Given the description of an element on the screen output the (x, y) to click on. 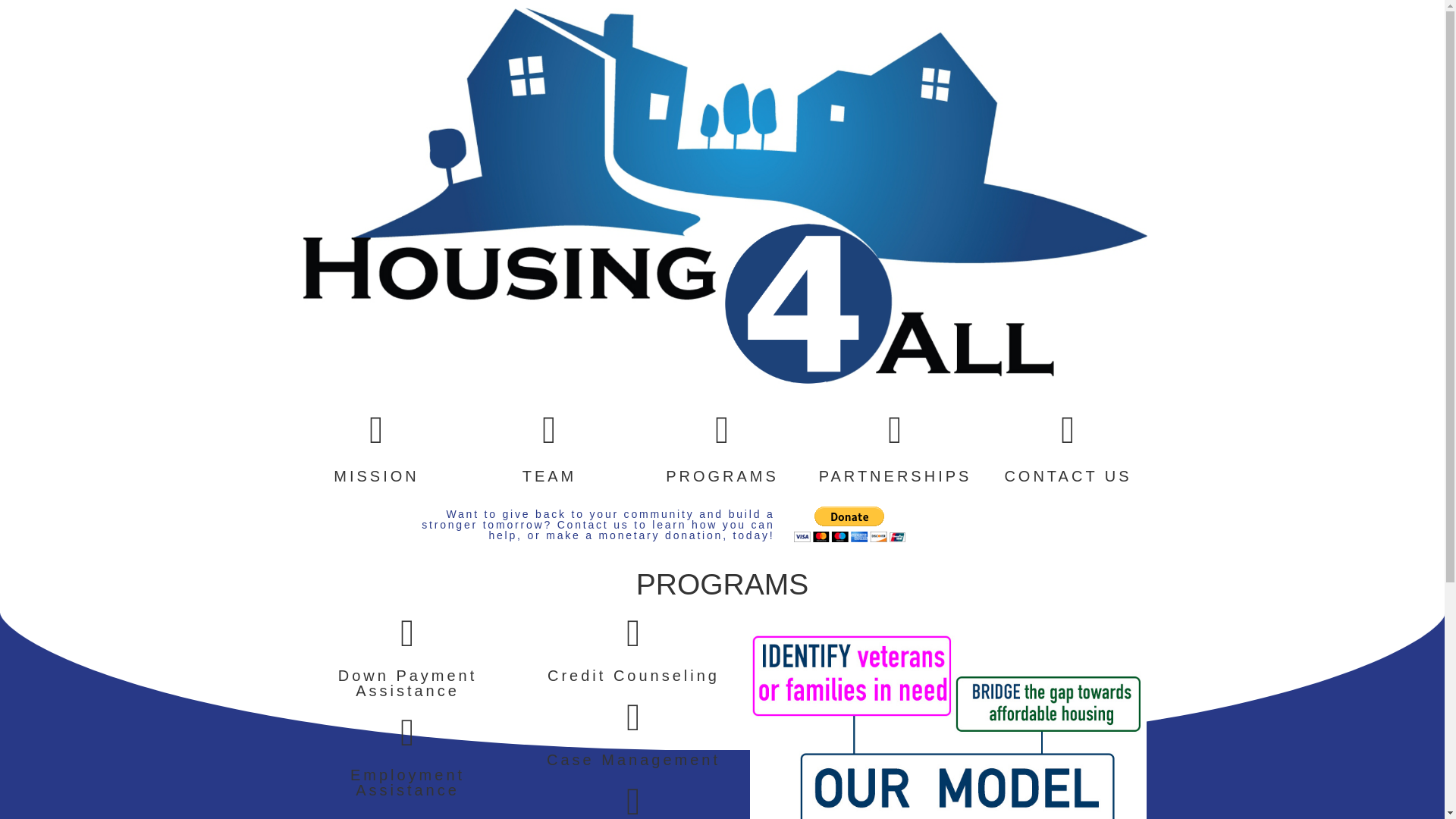
MISSION (376, 475)
PARTNERSHIPS (895, 475)
TEAM (549, 475)
CONTACT US (1067, 475)
PROGRAMS (721, 475)
